Given the description of an element on the screen output the (x, y) to click on. 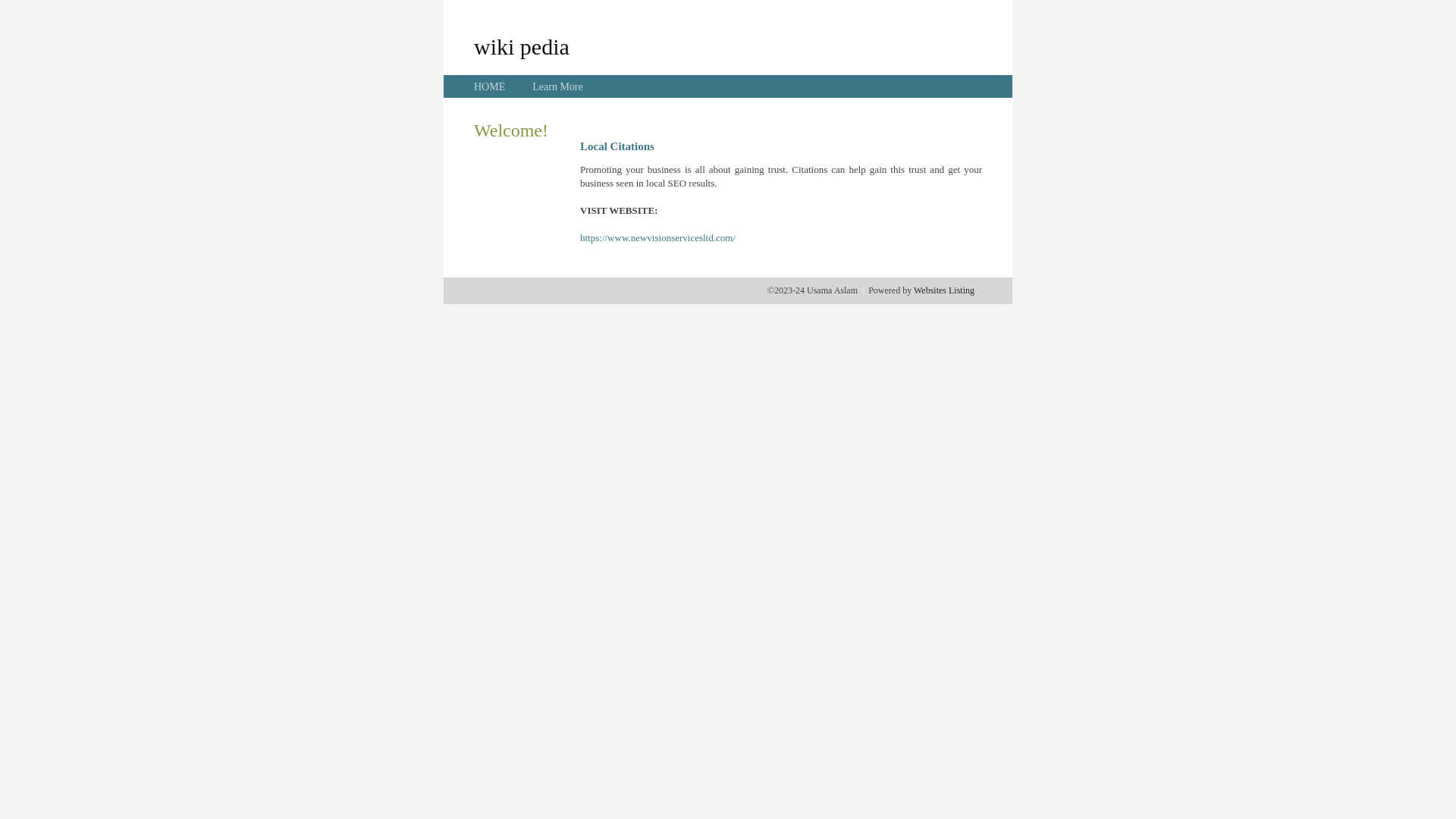
Learn More Element type: text (557, 86)
https://www.newvisionservicesltd.com/ Element type: text (657, 237)
HOME Element type: text (489, 86)
Websites Listing Element type: text (943, 290)
wiki pedia Element type: text (521, 46)
